Given the description of an element on the screen output the (x, y) to click on. 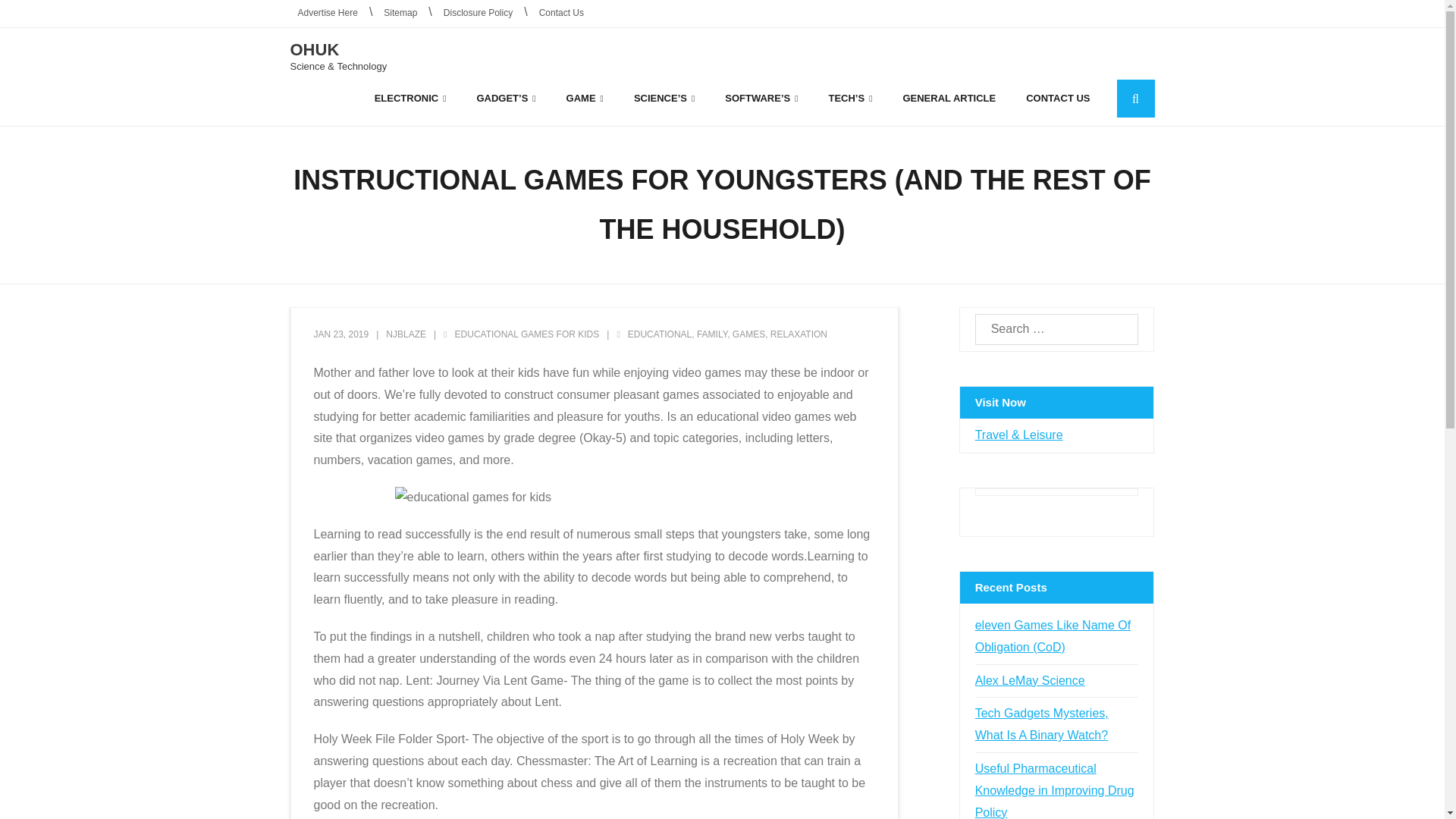
GAME (585, 98)
Contact Us (561, 13)
Sitemap (400, 13)
ELECTRONIC (410, 98)
Search (37, 15)
CONTACT US (1057, 98)
View all posts by Njblaze (405, 334)
Disclosure Policy (477, 13)
GENERAL ARTICLE (949, 98)
Advertise Here (327, 13)
